Given the description of an element on the screen output the (x, y) to click on. 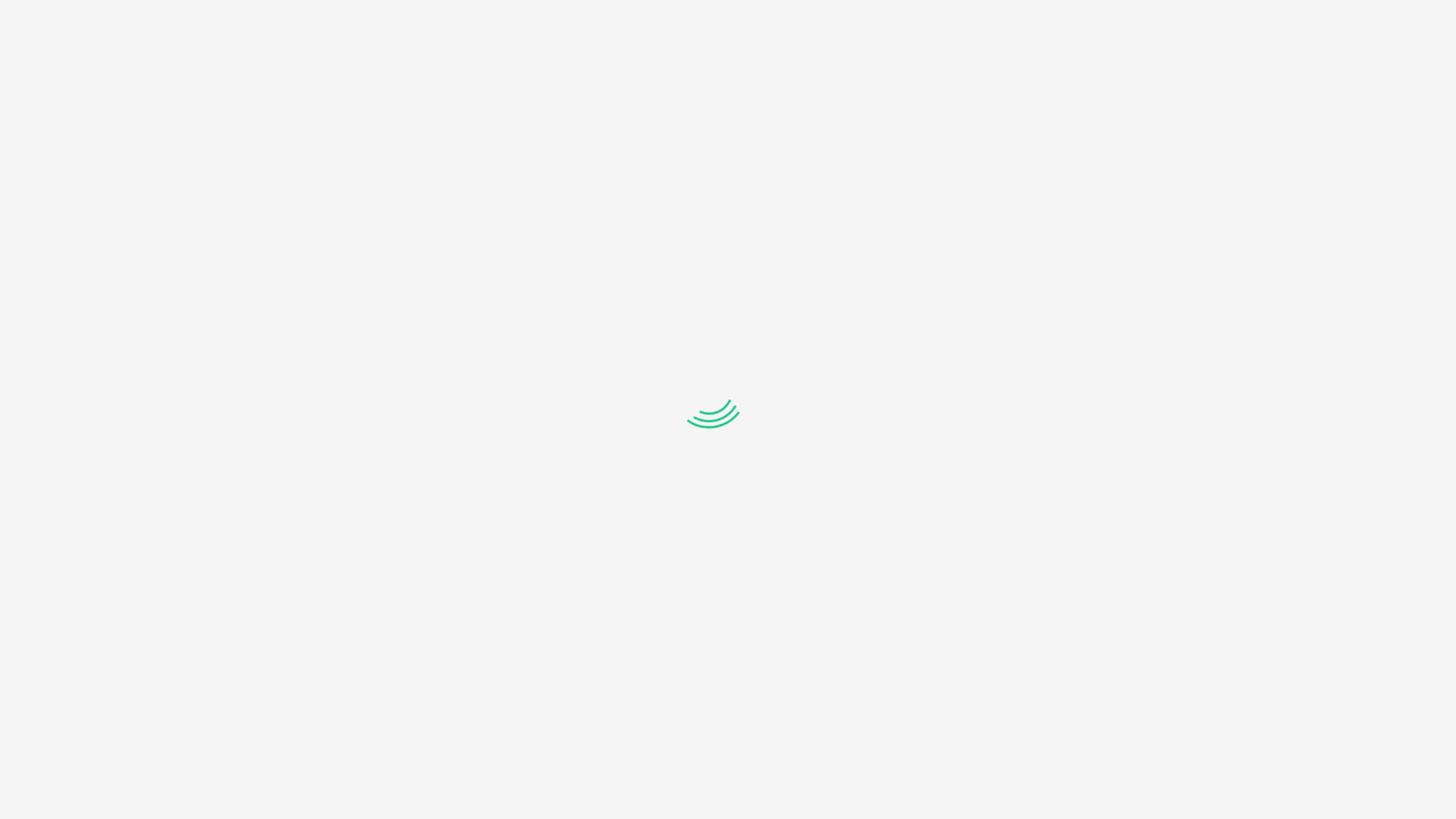
AKTUELNOSTI Element type: text (886, 124)
O NAMA Element type: text (568, 124)
JAVNE NABAVKE Element type: text (1023, 124)
ZNAKOVNI JEZIK Element type: text (778, 159)
HOME Element type: text (297, 359)
151213049.3_xl Element type: hover (423, 567)
READ MORE Element type: text (345, 801)
NASTAVA Element type: text (468, 124)
KONTAKT Element type: text (654, 159)
ORGANIZACIONE JEDINICE Element type: text (718, 124)
